Given the description of an element on the screen output the (x, y) to click on. 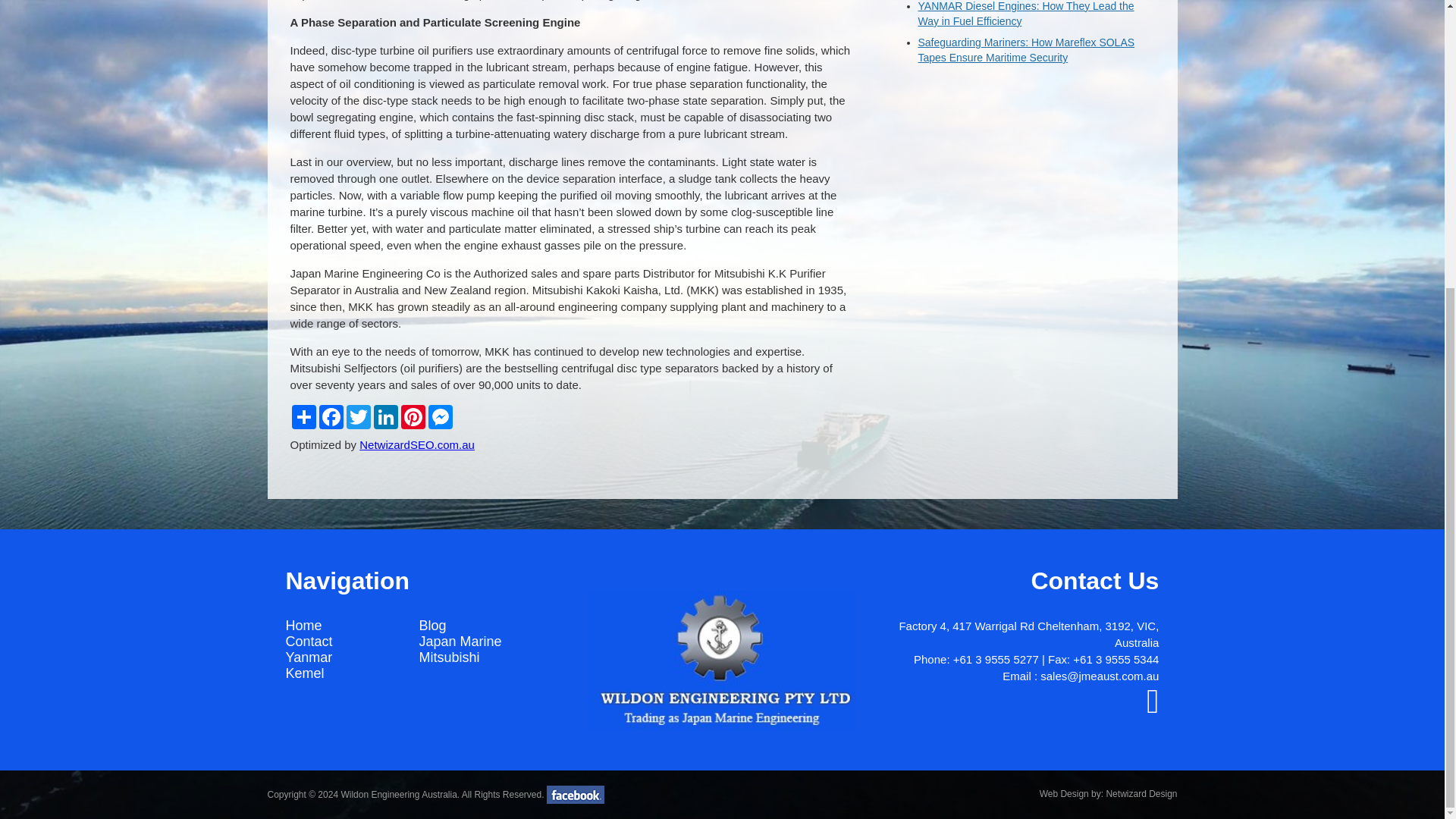
Blog (432, 625)
Twitter (357, 416)
Messenger (439, 416)
NetwizardSEO.com.au (416, 444)
Mitsubishi (449, 657)
Facebook (330, 416)
Contact (308, 641)
Pinterest (412, 416)
Facebook (1152, 707)
Yanmar (308, 657)
LinkedIn (384, 416)
Japan Marine (459, 641)
Home (303, 625)
